Given the description of an element on the screen output the (x, y) to click on. 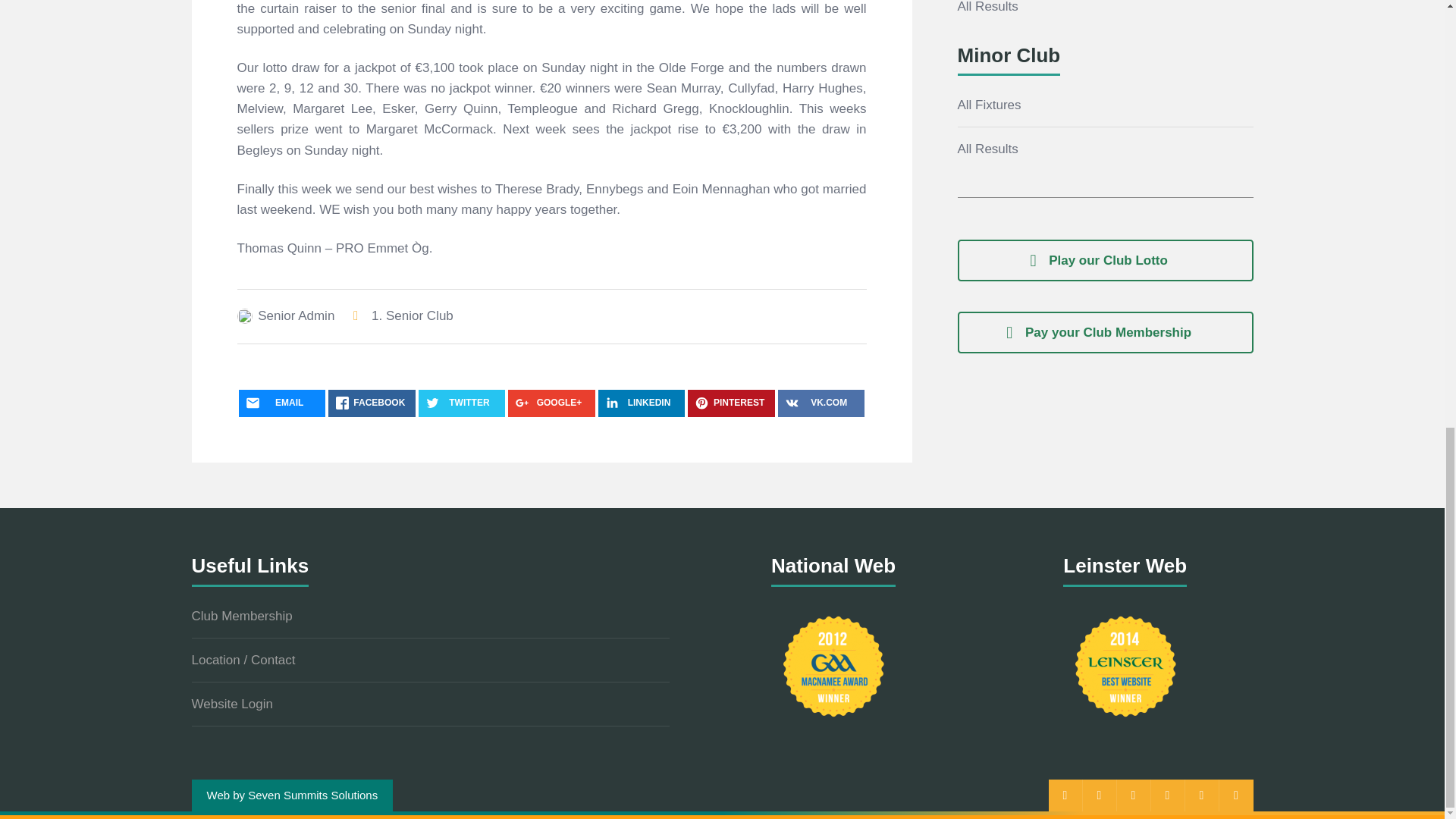
Leinster Web (1125, 666)
National Web (832, 666)
